Given the description of an element on the screen output the (x, y) to click on. 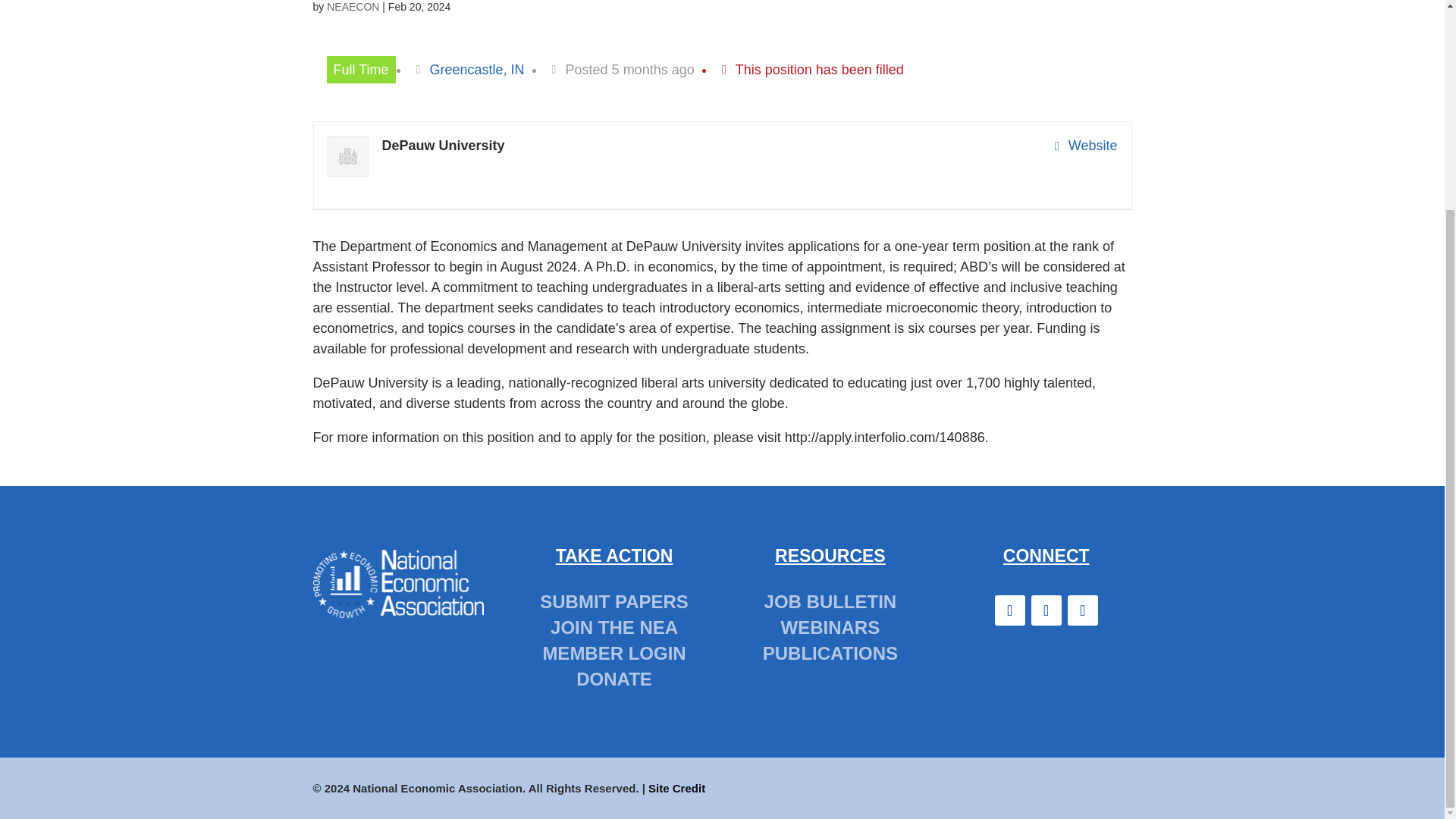
NEA Footer Logo (398, 583)
MEMBER LOGIN (613, 652)
Follow on LinkedIn (1009, 610)
Posts by NEAECON (352, 6)
JOIN THE NEA (614, 627)
SUBMIT PAPERS (614, 601)
PUBLICATIONS (830, 652)
WEBINARS (830, 627)
Follow on X (1045, 610)
Follow on Youtube (1082, 610)
